Given the description of an element on the screen output the (x, y) to click on. 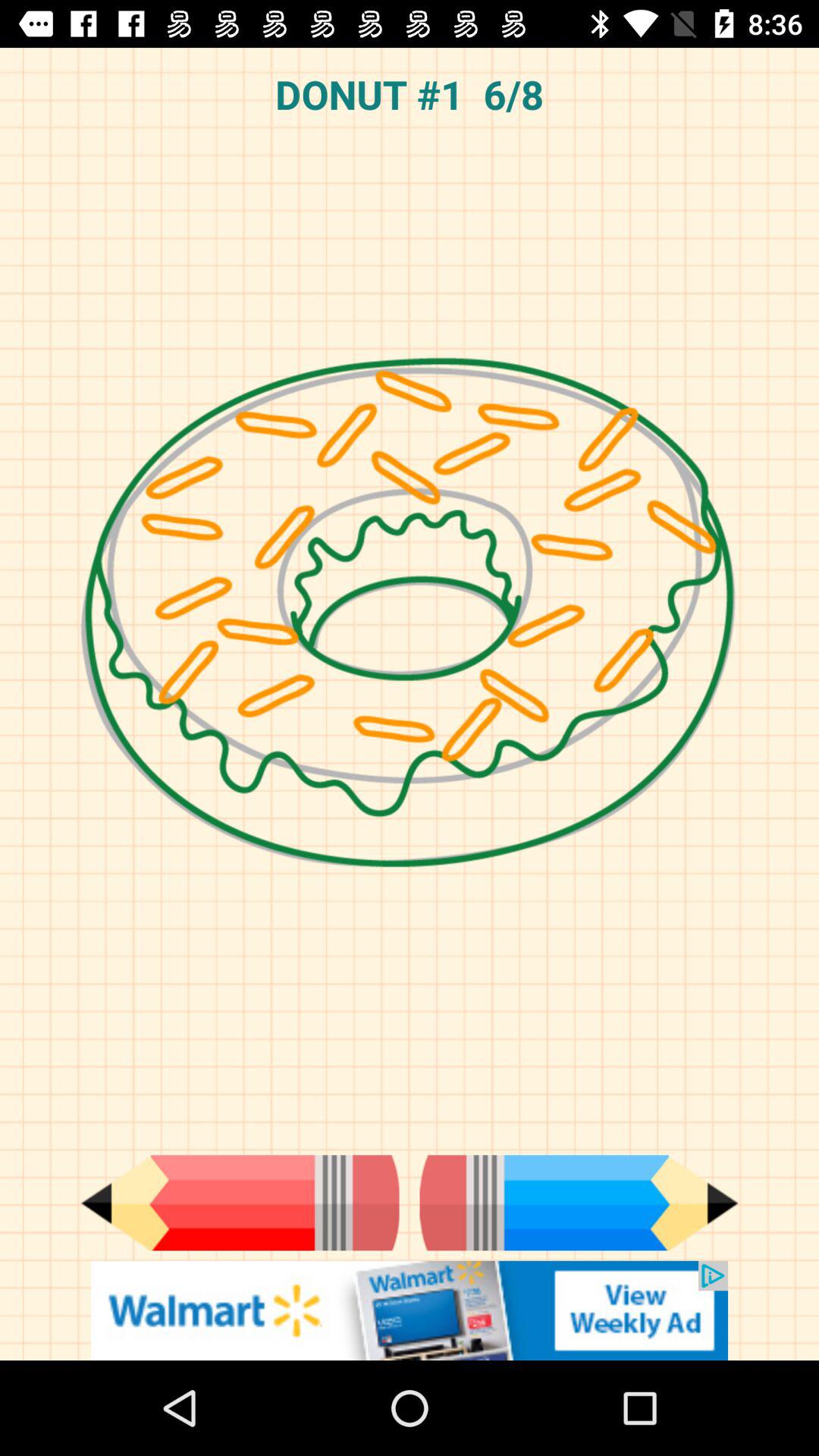
go back (239, 1202)
